Given the description of an element on the screen output the (x, y) to click on. 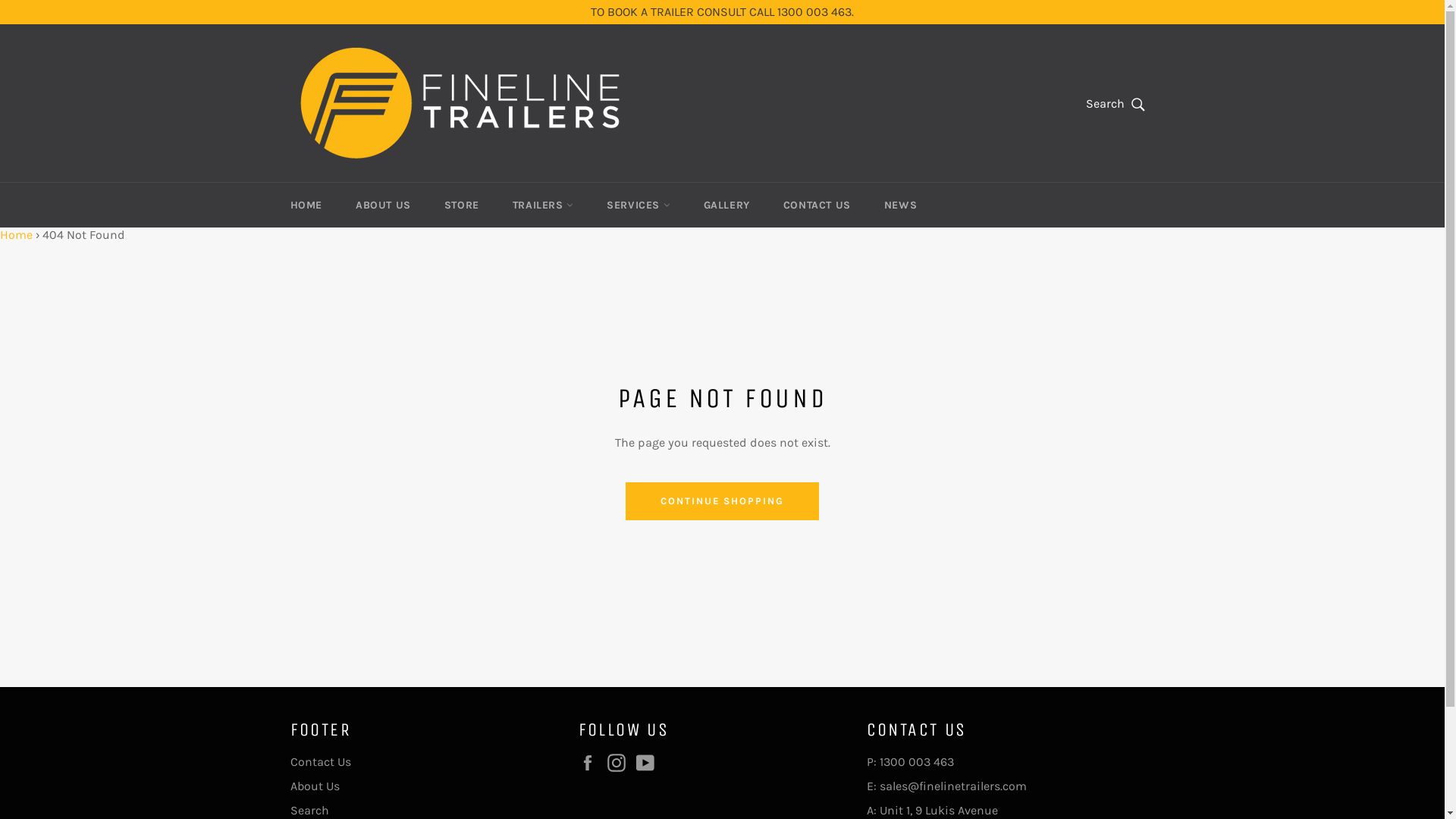
Home Element type: text (16, 234)
CONTINUE SHOPPING Element type: text (722, 501)
HOME Element type: text (305, 204)
CONTACT US Element type: text (817, 204)
ABOUT US Element type: text (383, 204)
Search Element type: text (308, 810)
SERVICES Element type: text (637, 204)
GALLERY Element type: text (726, 204)
Instagram Element type: text (619, 762)
NEWS Element type: text (900, 204)
sales@finelinetrailers.com Element type: text (952, 785)
About Us Element type: text (313, 785)
Contact Us Element type: text (319, 761)
Facebook Element type: text (590, 762)
See Details Element type: text (847, 11)
STORE Element type: text (461, 204)
TRAILERS Element type: text (542, 204)
Search
Search Element type: text (1116, 103)
YouTube Element type: text (648, 762)
